Given the description of an element on the screen output the (x, y) to click on. 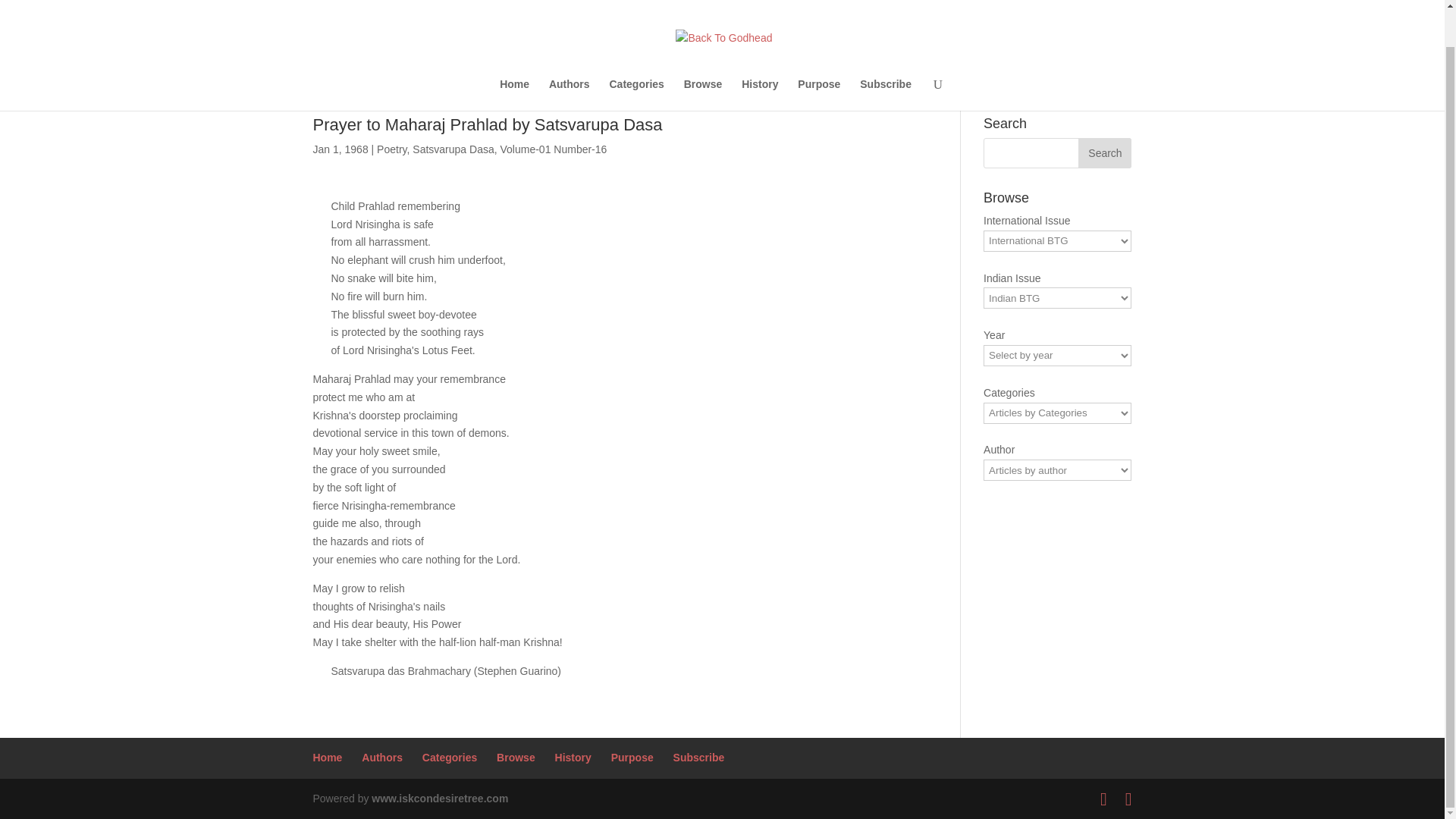
Subscribe (698, 757)
www.iskcondesiretree.com (439, 798)
Poetry (391, 149)
History (759, 56)
Search (1104, 153)
Categories (449, 757)
Authors (382, 757)
Authors (568, 56)
Satsvarupa Dasa (452, 149)
Home (514, 56)
Browse (515, 757)
Home (514, 56)
Purpose (632, 757)
Authors (568, 56)
Browse (515, 757)
